Given the description of an element on the screen output the (x, y) to click on. 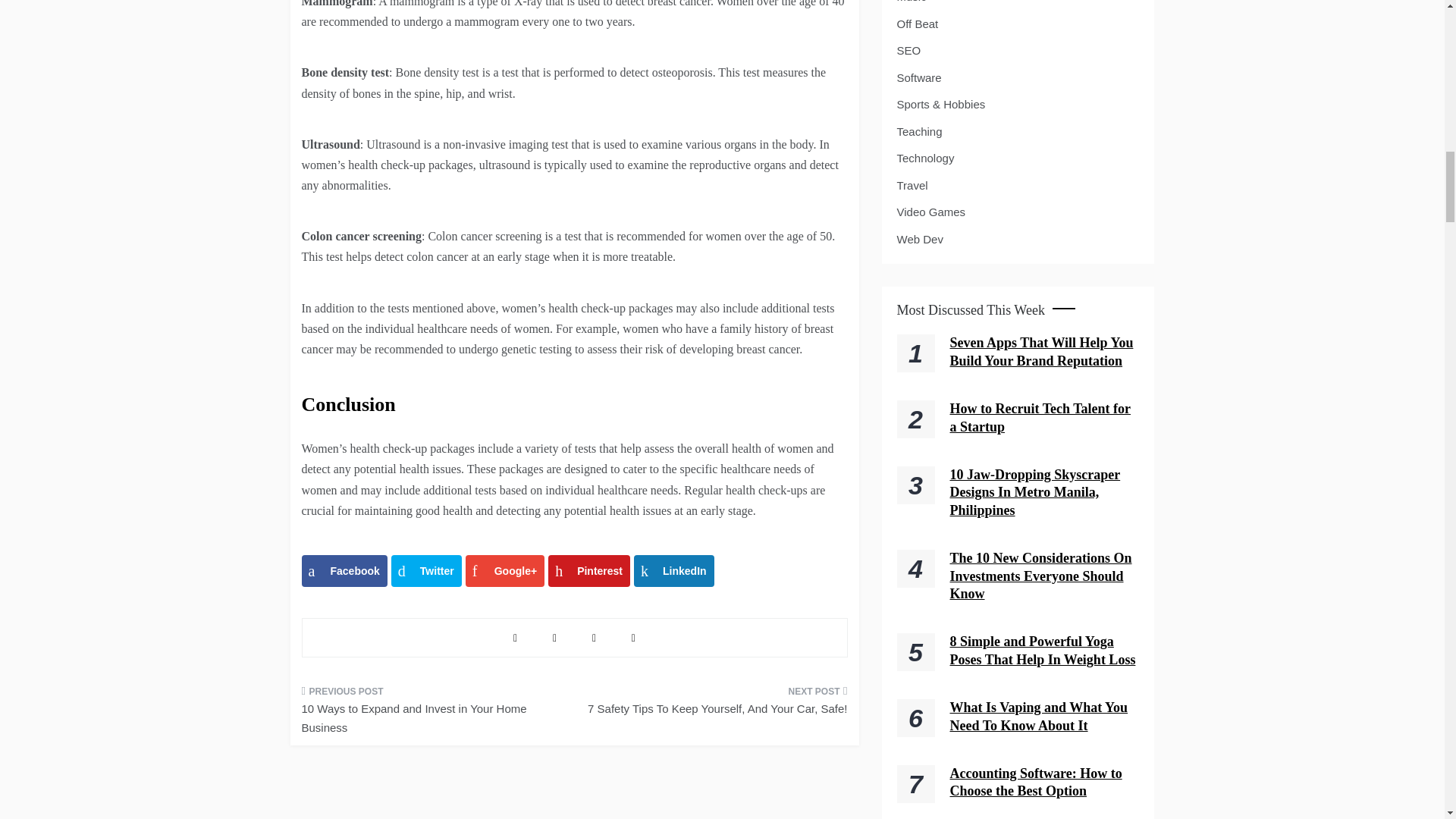
Twitter (426, 571)
View How to Recruit Tech Talent for a Startup (1040, 417)
LinkedIn (673, 571)
10 Ways to Expand and Invest in Your Home Business (432, 714)
Pinterest (589, 571)
View Accounting Software: How to Choose the Best Option (1035, 781)
Facebook (344, 571)
View What Is Vaping and What You Need To Know About It (1037, 716)
7 Safety Tips To Keep Yourself, And Your Car, Safe! (716, 704)
